Given the description of an element on the screen output the (x, y) to click on. 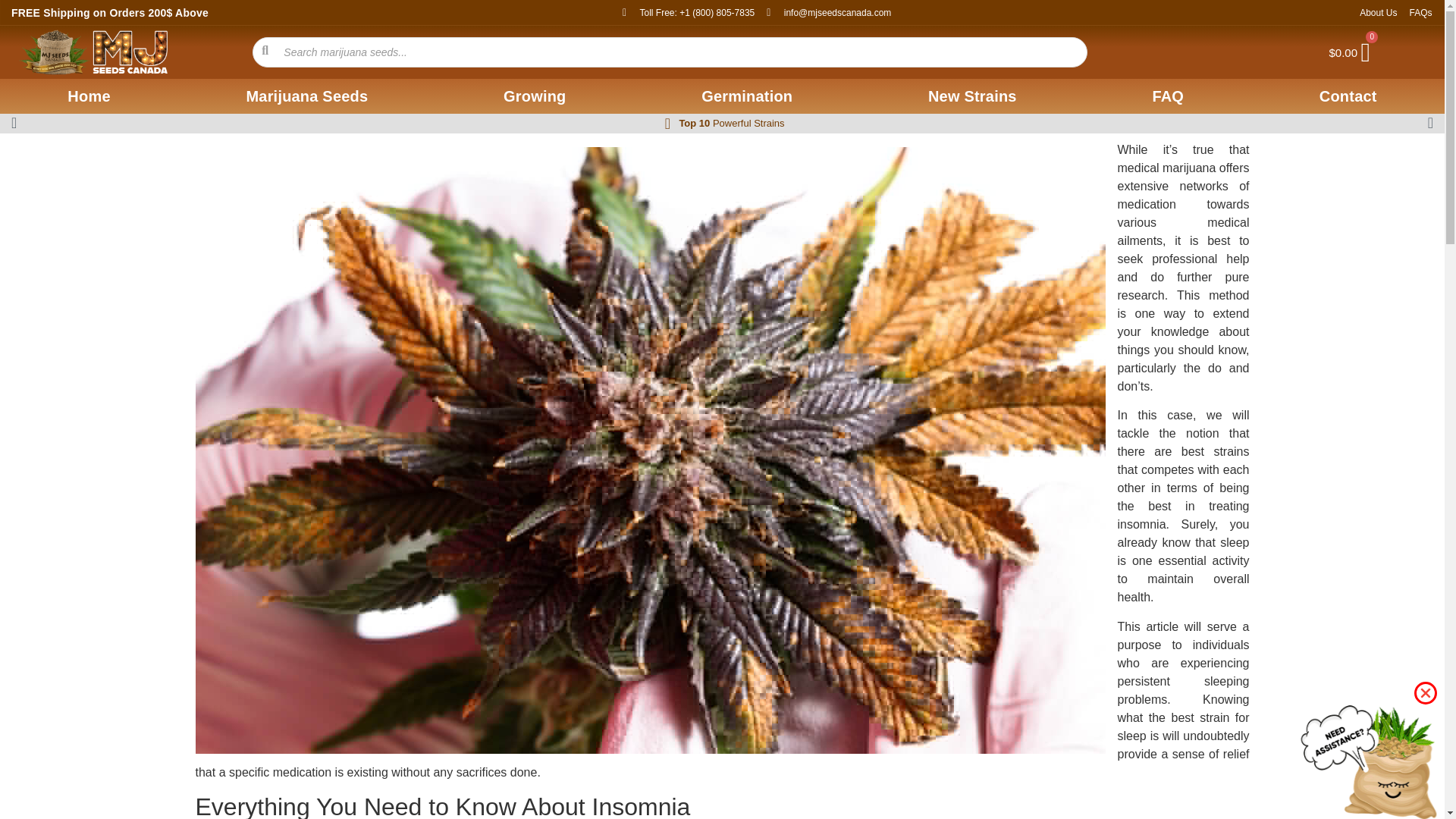
Top 10 Powerful Strains (731, 122)
FAQ (1167, 95)
FAQs (1420, 12)
New Strains (972, 95)
About Us (1377, 12)
Growing (534, 95)
Home (88, 95)
Marijuana Seeds (306, 95)
Germination (746, 95)
